Given the description of an element on the screen output the (x, y) to click on. 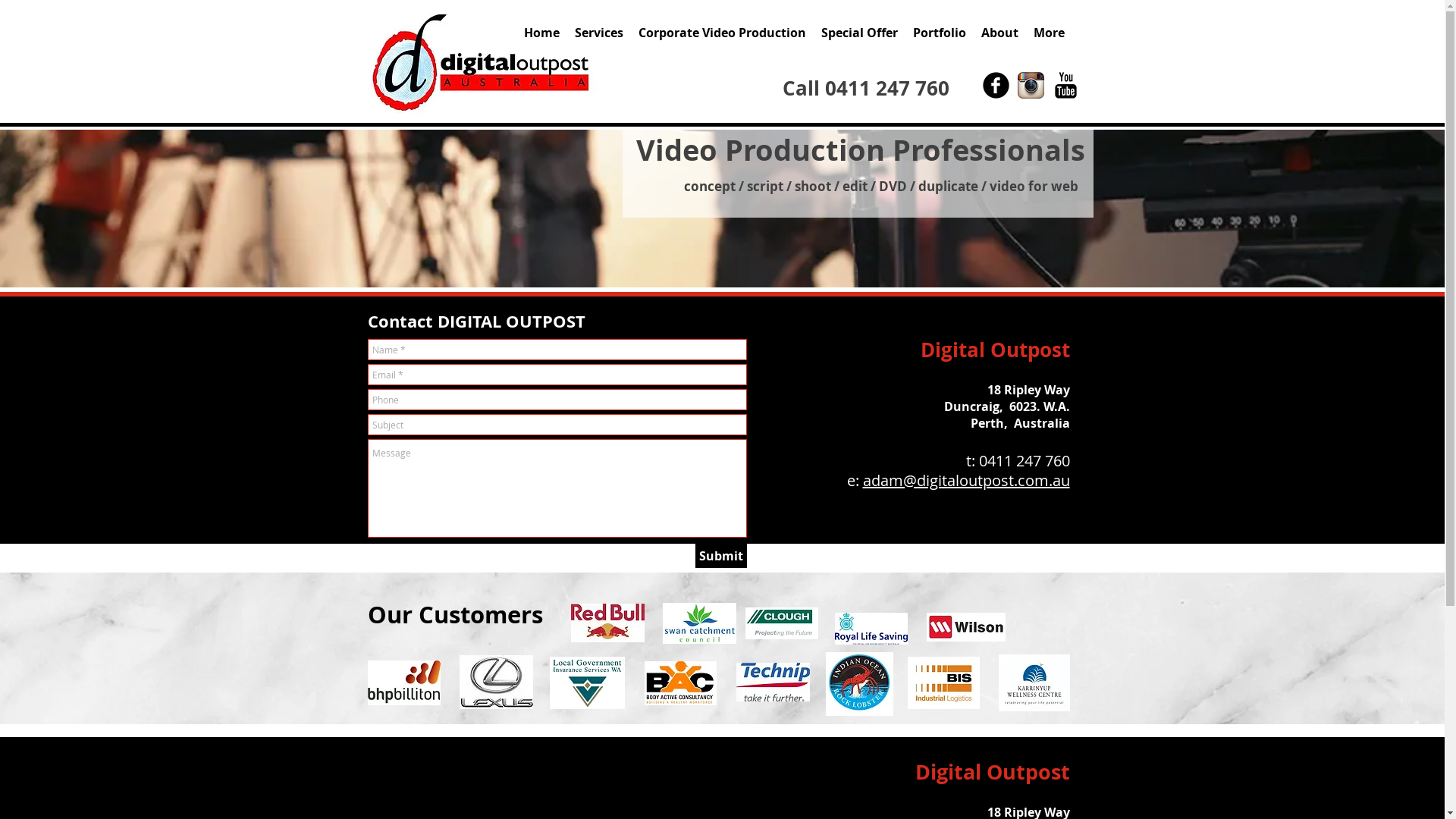
Wilson%20logo.JPG Element type: hover (965, 626)
Home Element type: text (540, 32)
About Element type: text (999, 32)
Digital Outpost, Video Production Perth Element type: hover (487, 60)
KWC+LOGO.JPG Element type: hover (1033, 682)
Special Offer Element type: text (858, 32)
Corporate Video Production Element type: text (721, 32)
BHP+logo.jpg Element type: hover (403, 682)
Services Element type: text (598, 32)
  Element type: hover (586, 682)
Swan+Council+logo.jpg Element type: hover (699, 622)
Indian-Ocean_logo_col.jpg Element type: hover (858, 683)
Portfolio Element type: text (939, 32)
BIS-LOGO-RGB+BIS+Colour+jpeg.jpg Element type: hover (942, 682)
RLSWA.jpg Element type: hover (870, 628)
adam@digitaloutpost.com.au Element type: text (966, 480)
LEXUS.jpg Element type: hover (496, 682)
BAC+Logo.jpg Element type: hover (680, 682)
Submit Element type: text (720, 555)
